Given the description of an element on the screen output the (x, y) to click on. 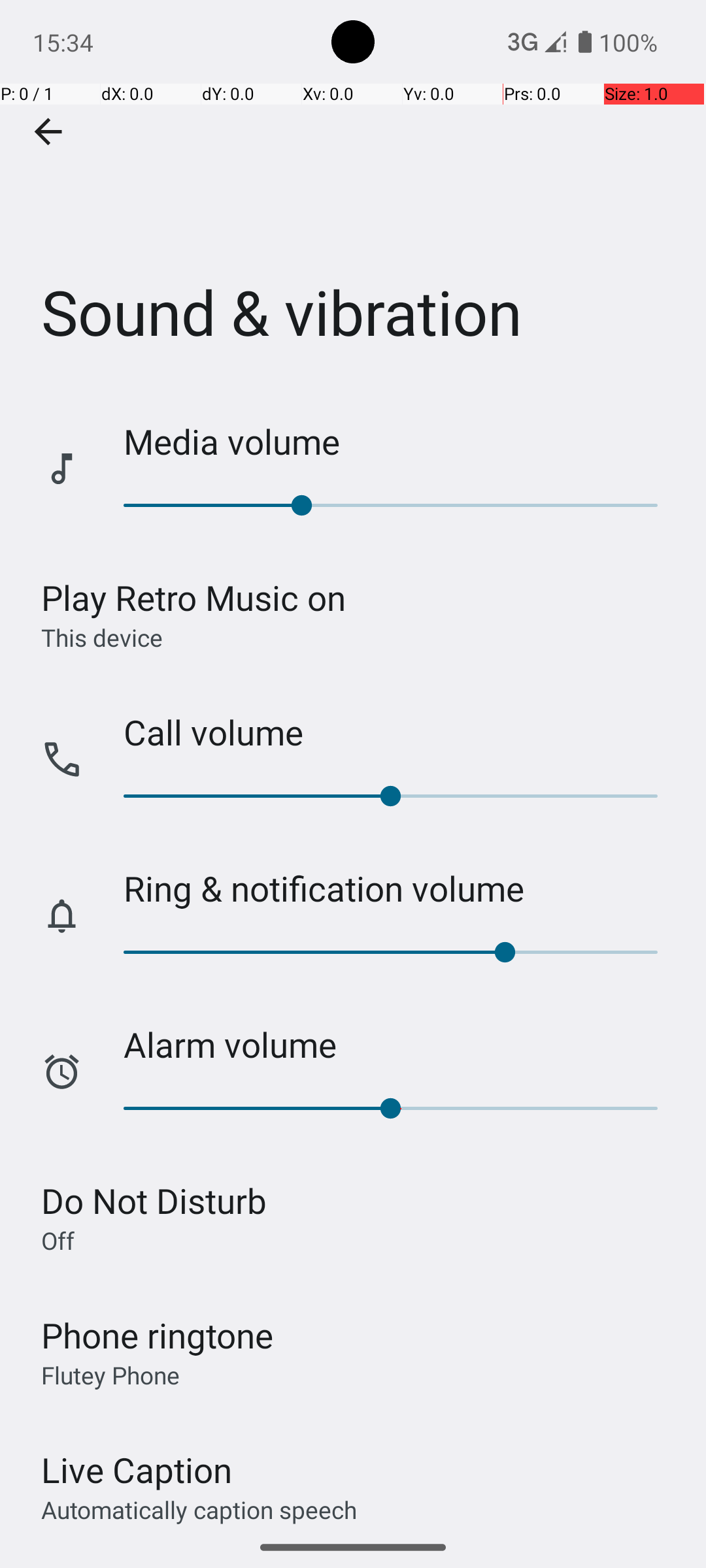
Sound & vibration Element type: android.widget.FrameLayout (353, 195)
Media volume Element type: android.widget.TextView (400, 441)
Play Retro Music on Element type: android.widget.TextView (193, 597)
This device Element type: android.widget.TextView (101, 636)
Call volume Element type: android.widget.TextView (400, 731)
Ring & notification volume Element type: android.widget.TextView (400, 888)
Alarm volume Element type: android.widget.TextView (400, 1044)
Do Not Disturb Element type: android.widget.TextView (153, 1200)
Off Element type: android.widget.TextView (57, 1240)
Phone ringtone Element type: android.widget.TextView (157, 1334)
Flutey Phone Element type: android.widget.TextView (110, 1374)
Live Caption Element type: android.widget.TextView (136, 1469)
Automatically caption speech Element type: android.widget.TextView (199, 1509)
